Given the description of an element on the screen output the (x, y) to click on. 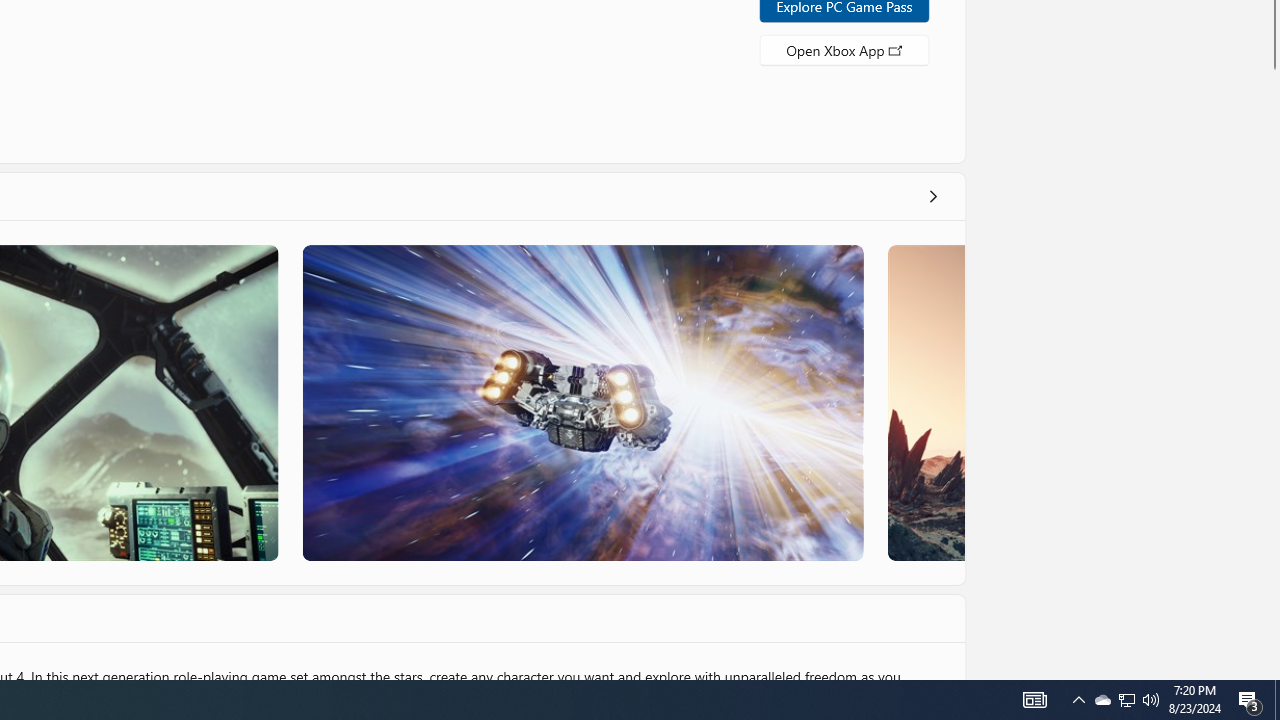
Screenshot 4 (925, 402)
Screenshot 3 (582, 402)
Vertical Large Increase (1272, 369)
Open Xbox App (844, 48)
Vertical Small Increase (1272, 672)
See all (932, 195)
